Given the description of an element on the screen output the (x, y) to click on. 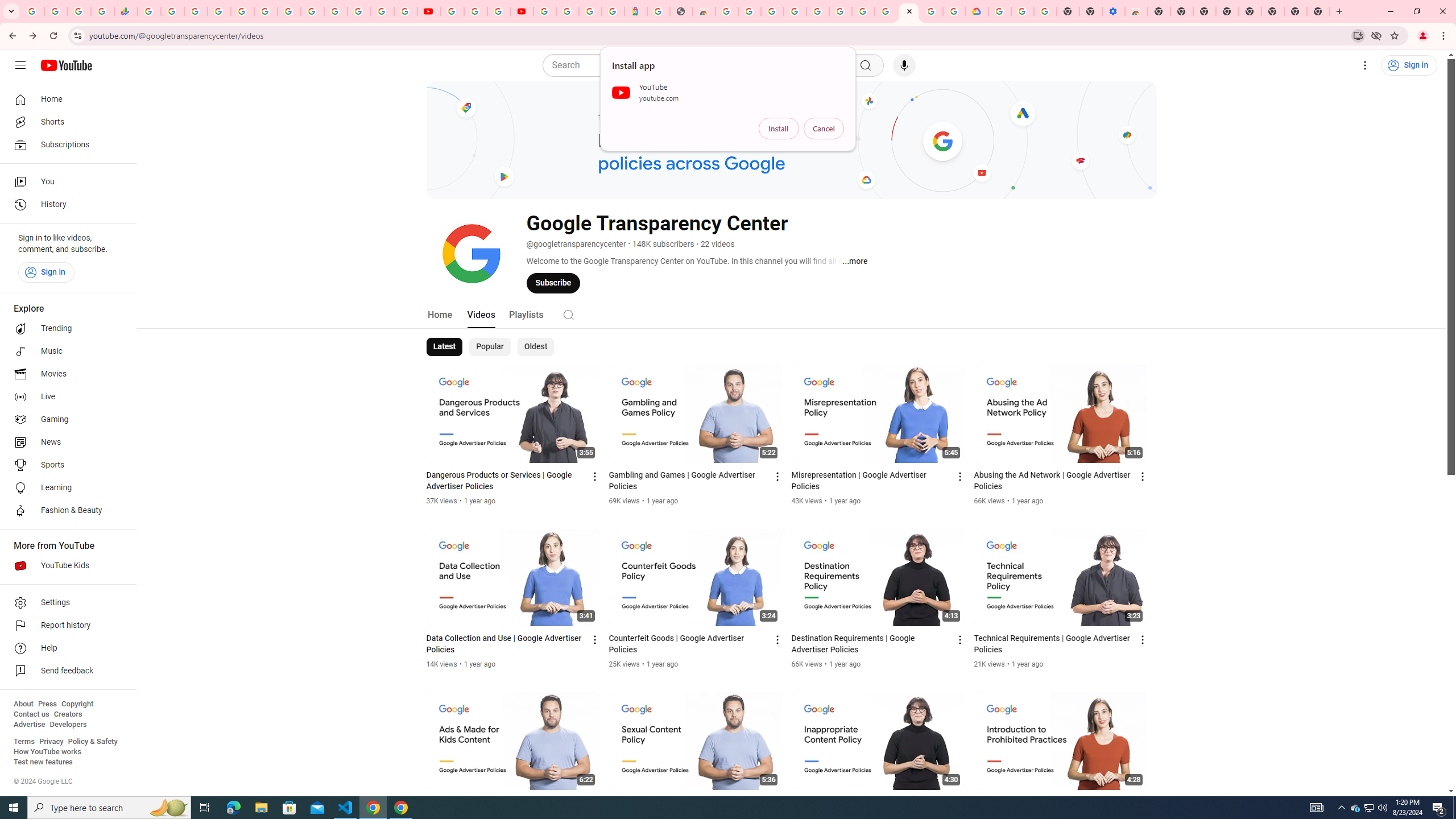
Settings (64, 602)
Sign in - Google Accounts (381, 11)
New Tab (1318, 11)
YouTube Home (66, 65)
Create your Google Account (931, 11)
Ad Settings (794, 11)
Sign in - Google Accounts (567, 11)
Copyright (77, 703)
Search (567, 314)
Settings (1365, 65)
History (64, 204)
About (23, 703)
